Given the description of an element on the screen output the (x, y) to click on. 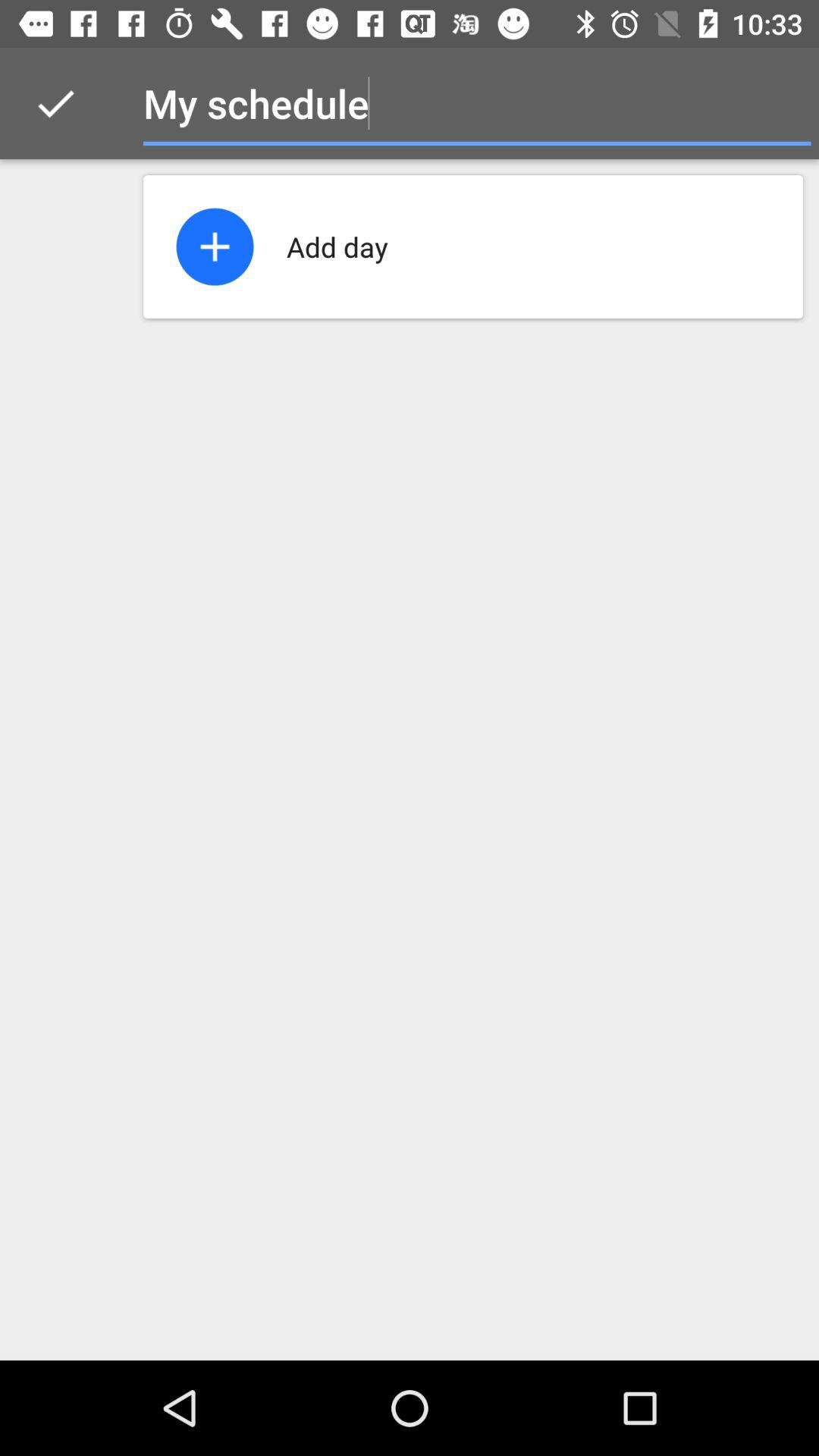
tap item at the top right corner (779, 103)
